Given the description of an element on the screen output the (x, y) to click on. 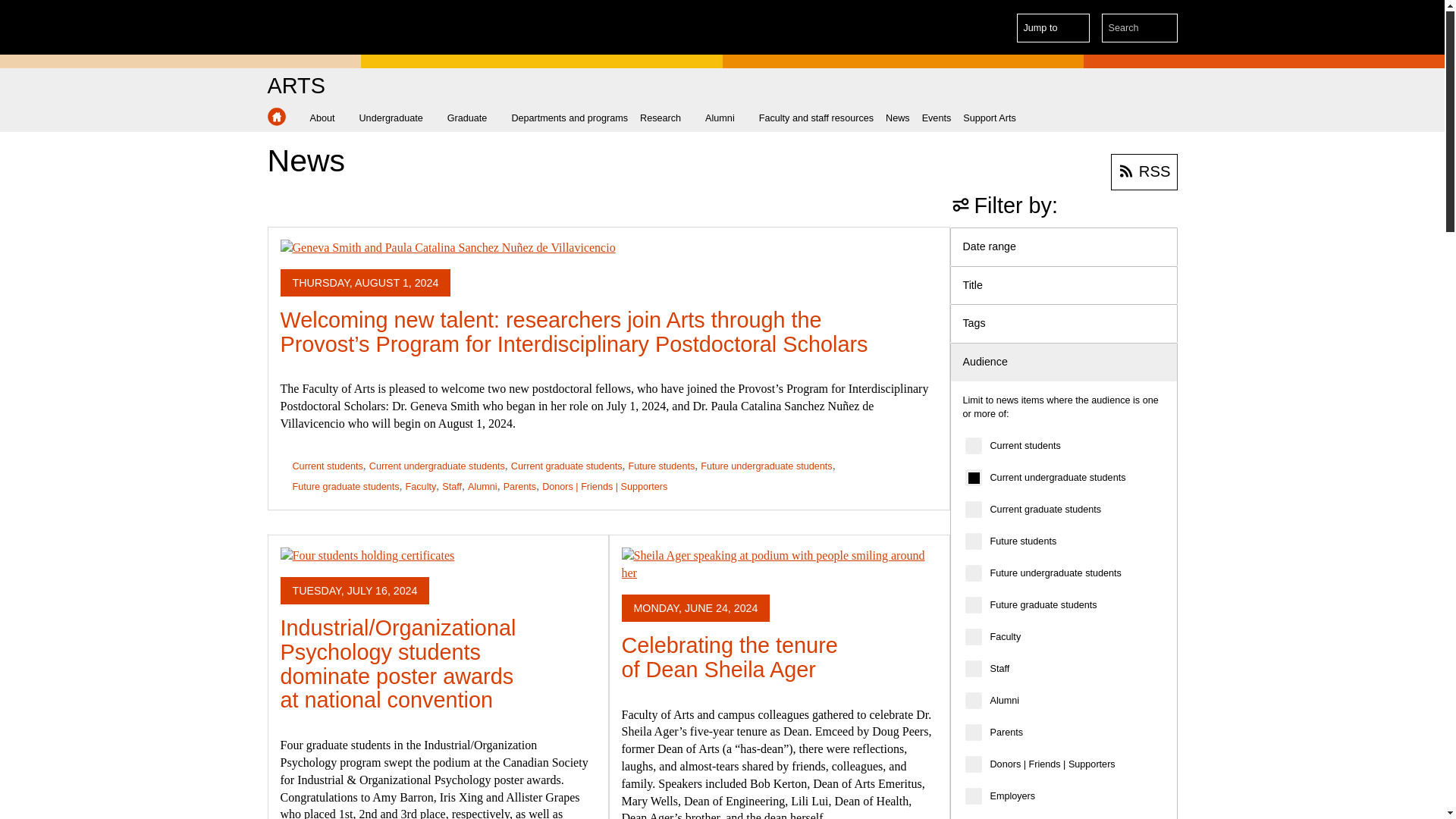
ARTS (295, 85)
Arts Home (295, 85)
Search (1163, 27)
Undergraduate (397, 117)
About (327, 117)
Search (1163, 27)
Arts Home (275, 116)
Arts Home (275, 116)
University of Waterloo Home (331, 27)
